Given the description of an element on the screen output the (x, y) to click on. 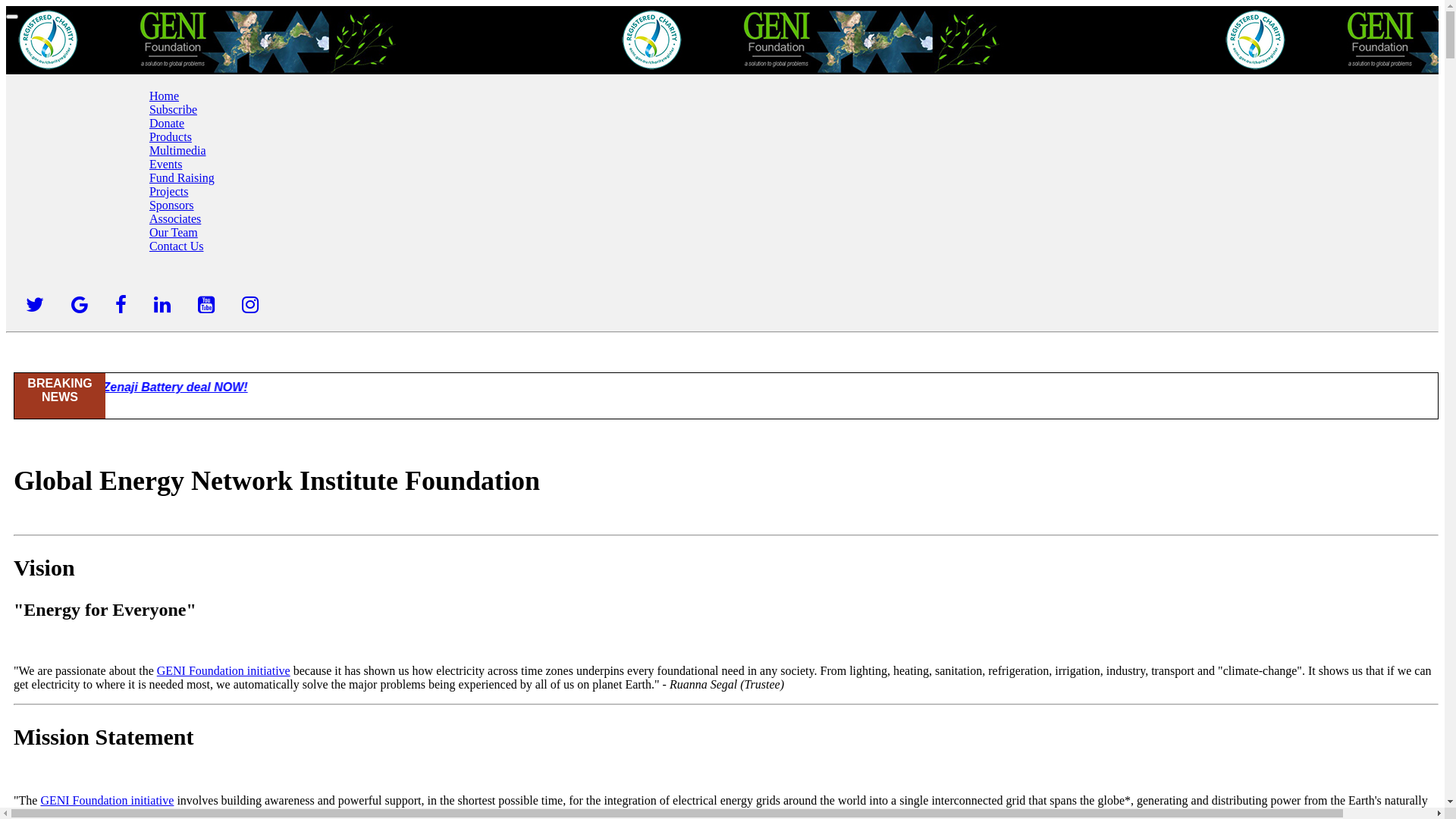
Incredible Solar Panels & Aussie Zenaji Battery deal NOW! Element type: text (230, 386)
Contact Us Element type: text (176, 245)
Subscribe Element type: text (173, 109)
Events Element type: text (165, 163)
Projects Element type: text (168, 191)
Multimedia Element type: text (177, 150)
Donate Element type: text (166, 122)
Previous Element type: text (108, 403)
Home Element type: text (163, 95)
Sponsors Element type: text (171, 204)
GENI Foundation initiative Element type: text (106, 799)
Associates Element type: text (174, 218)
BREAKING NEWS Element type: text (59, 397)
Our Team Element type: text (173, 231)
GENI Foundation initiative Element type: text (223, 670)
Fund Raising Element type: text (181, 177)
Products Element type: text (170, 136)
